Given the description of an element on the screen output the (x, y) to click on. 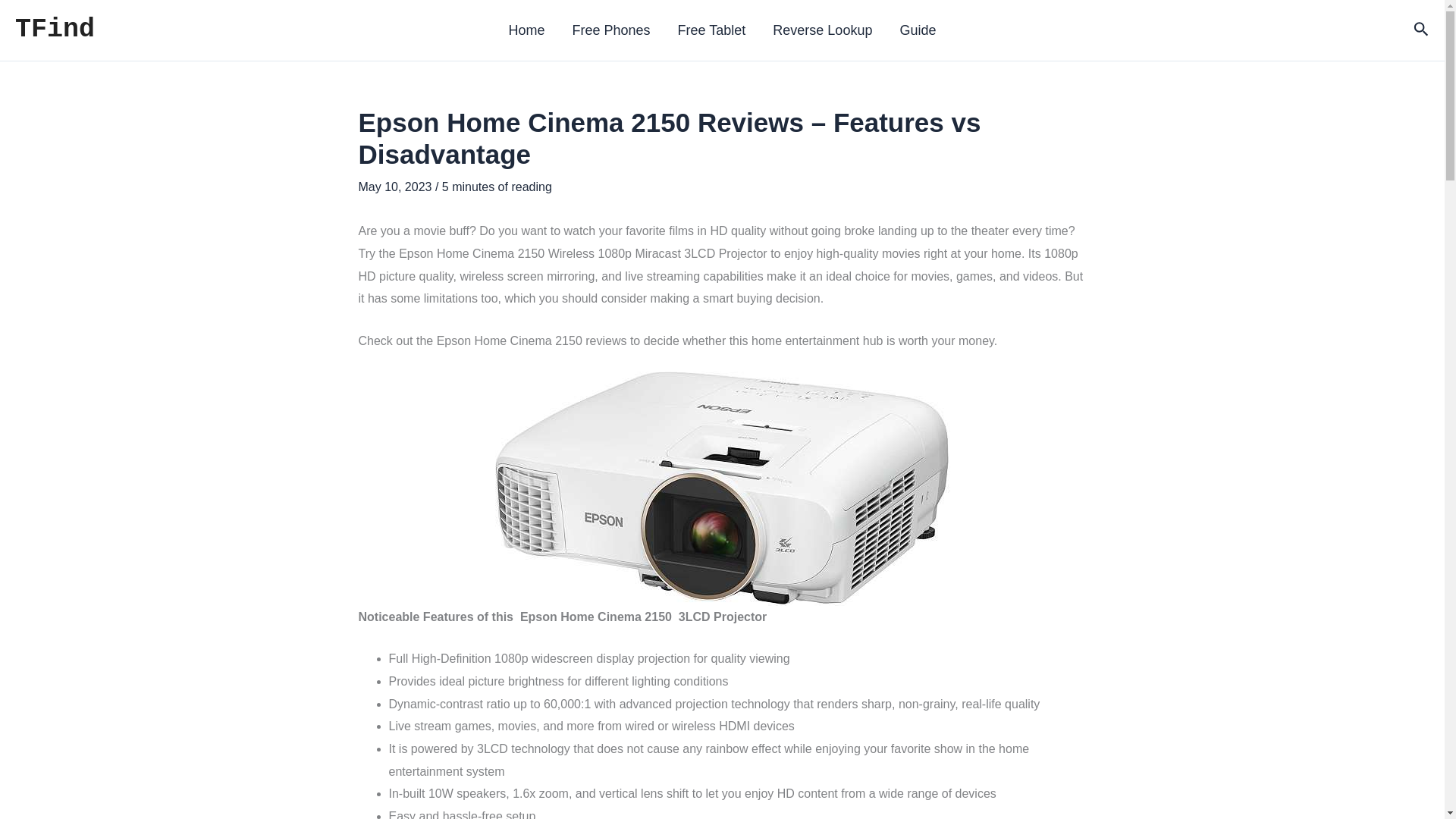
Free Tablet (711, 30)
Reverse Lookup (821, 30)
Epson Home Cinema 2150 Reviews (722, 488)
Free Phones (611, 30)
Guide (917, 30)
Home (527, 30)
TFind (54, 29)
